Given the description of an element on the screen output the (x, y) to click on. 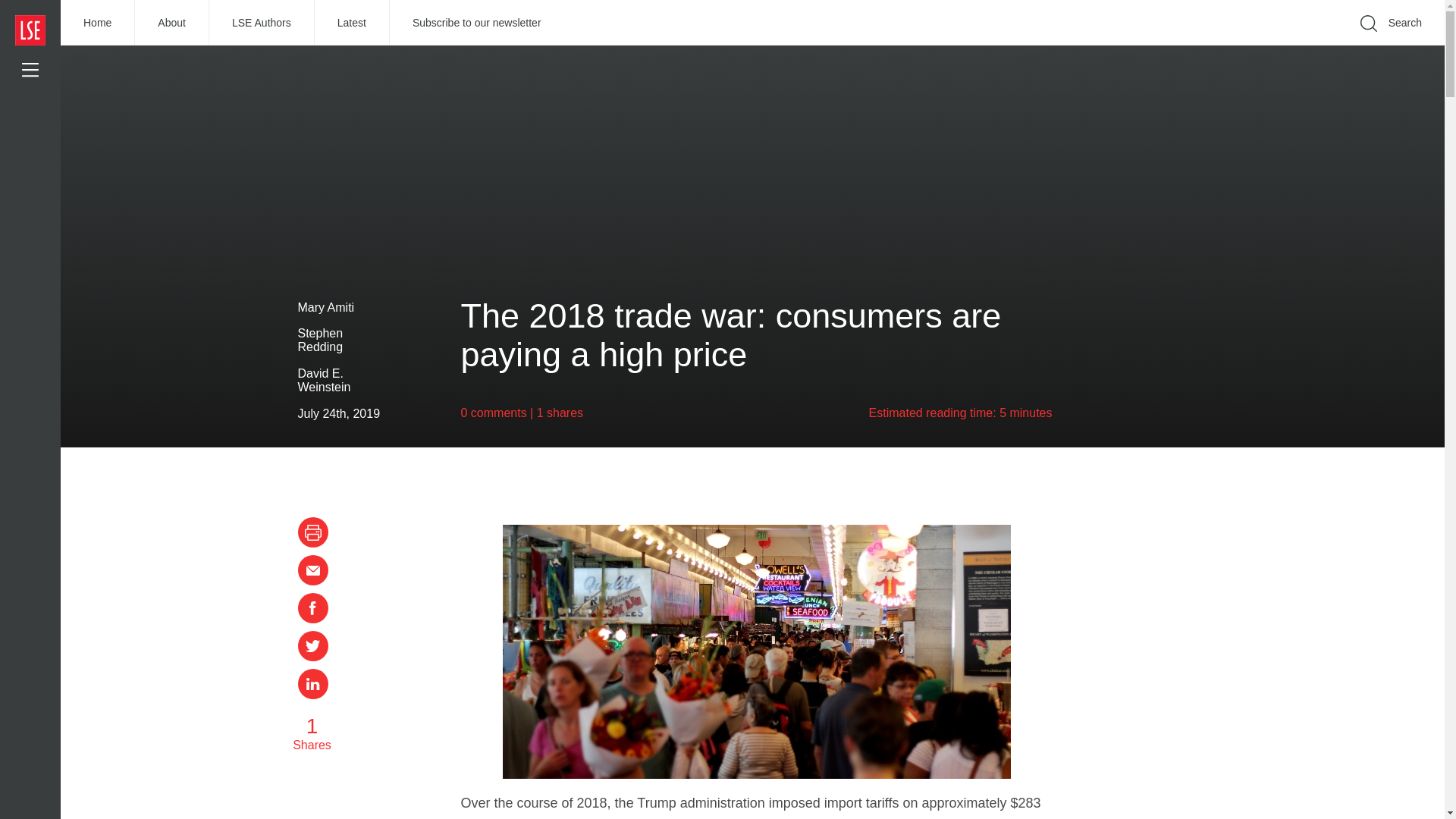
Go (1190, 44)
Home (98, 22)
LSE Authors (261, 22)
About (172, 22)
Latest (352, 22)
Subscribe to our newsletter (477, 22)
